Given the description of an element on the screen output the (x, y) to click on. 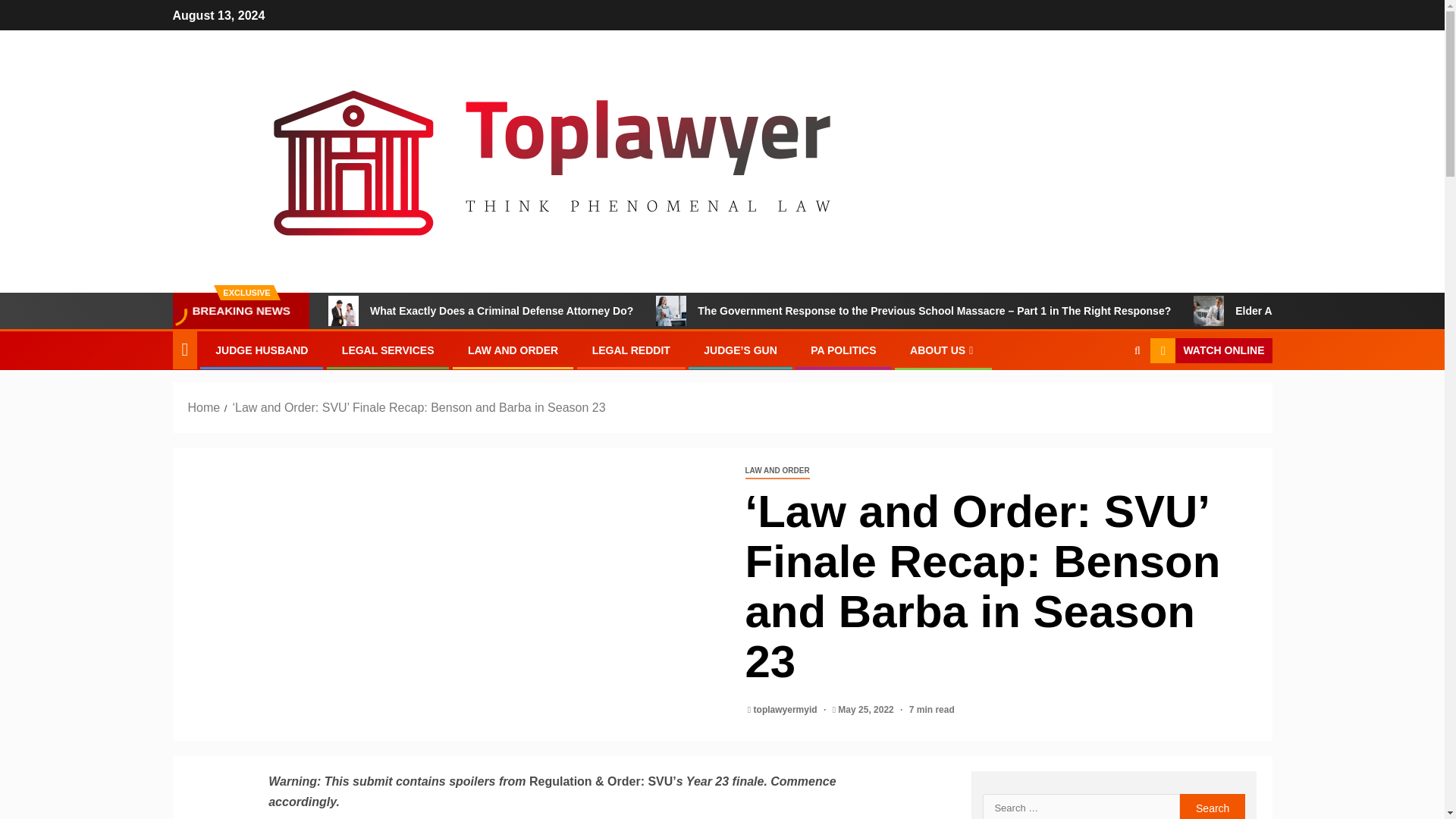
LAW AND ORDER (776, 471)
Search (1107, 397)
LEGAL REDDIT (630, 349)
toplawyermyid (786, 709)
Home (204, 407)
JUDGE HUSBAND (261, 349)
What Exactly Does a Criminal Defense Attorney Do? (343, 310)
ABOUT US (943, 349)
WATCH ONLINE (1210, 350)
PA POLITICS (843, 349)
